Given the description of an element on the screen output the (x, y) to click on. 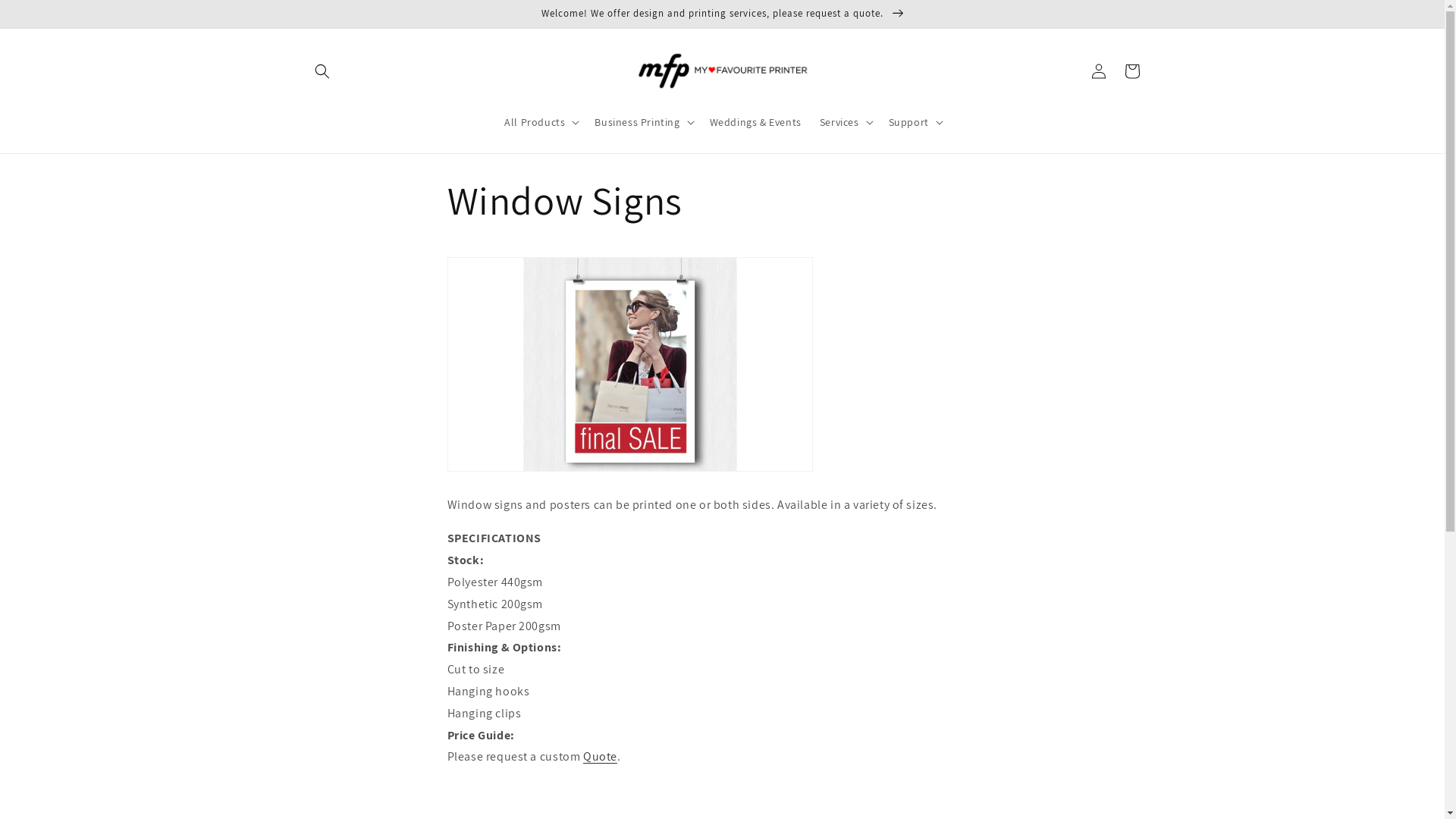
Cart Element type: text (1131, 70)
Log in Element type: text (1097, 70)
Quote Element type: text (600, 756)
Weddings & Events Element type: text (755, 122)
